Given the description of an element on the screen output the (x, y) to click on. 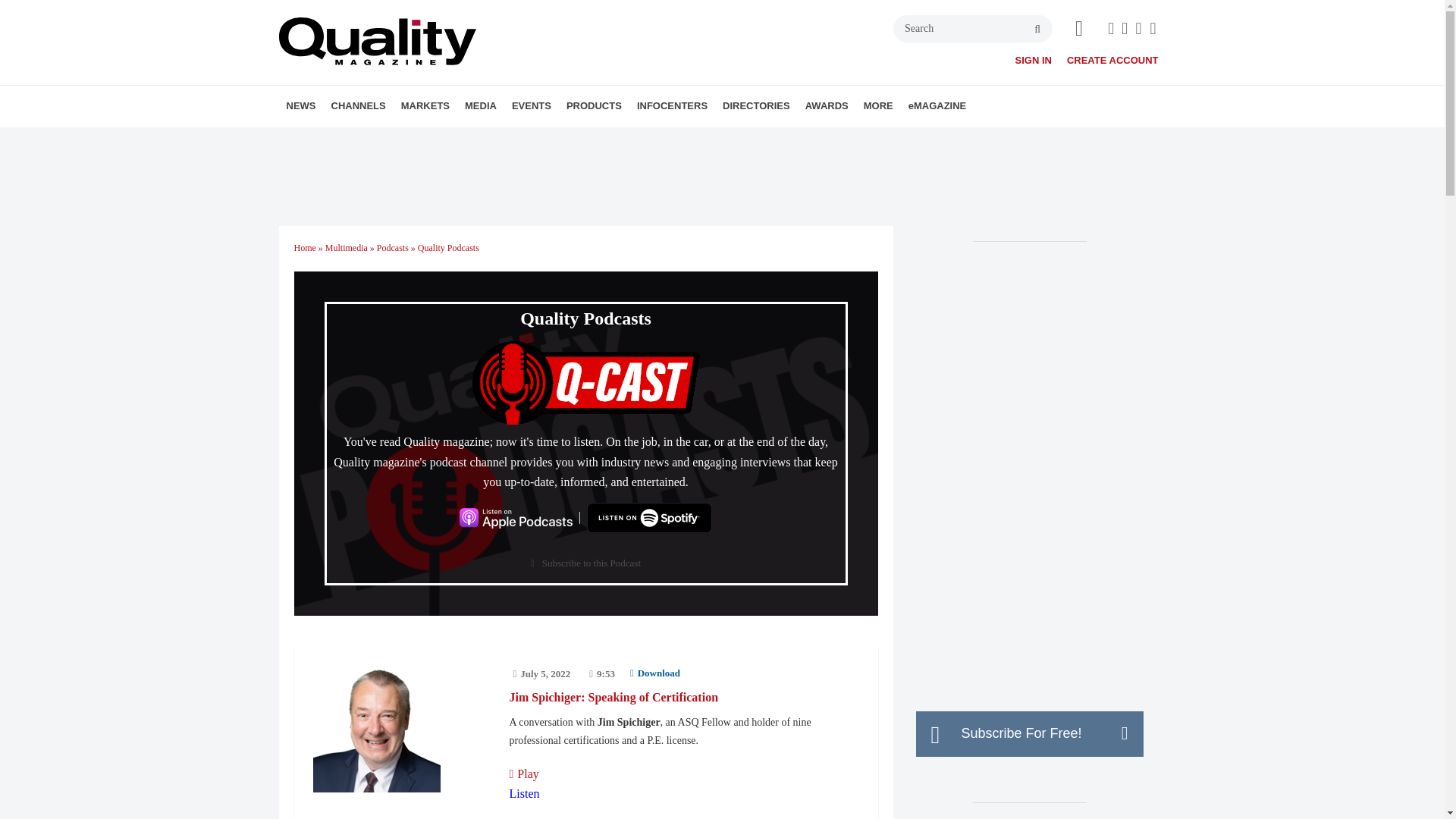
GREEN MANUFACTURING (511, 139)
ELECTRONICS (500, 139)
A WORD ON QUALITY PUZZLE (551, 139)
ENERGY (507, 139)
CHANNELS (358, 105)
AEROSPACE (488, 139)
MEDICAL (515, 139)
SOFTWARE (445, 139)
AUTOMATION (417, 139)
CREATE ACCOUNT (1112, 60)
